Given the description of an element on the screen output the (x, y) to click on. 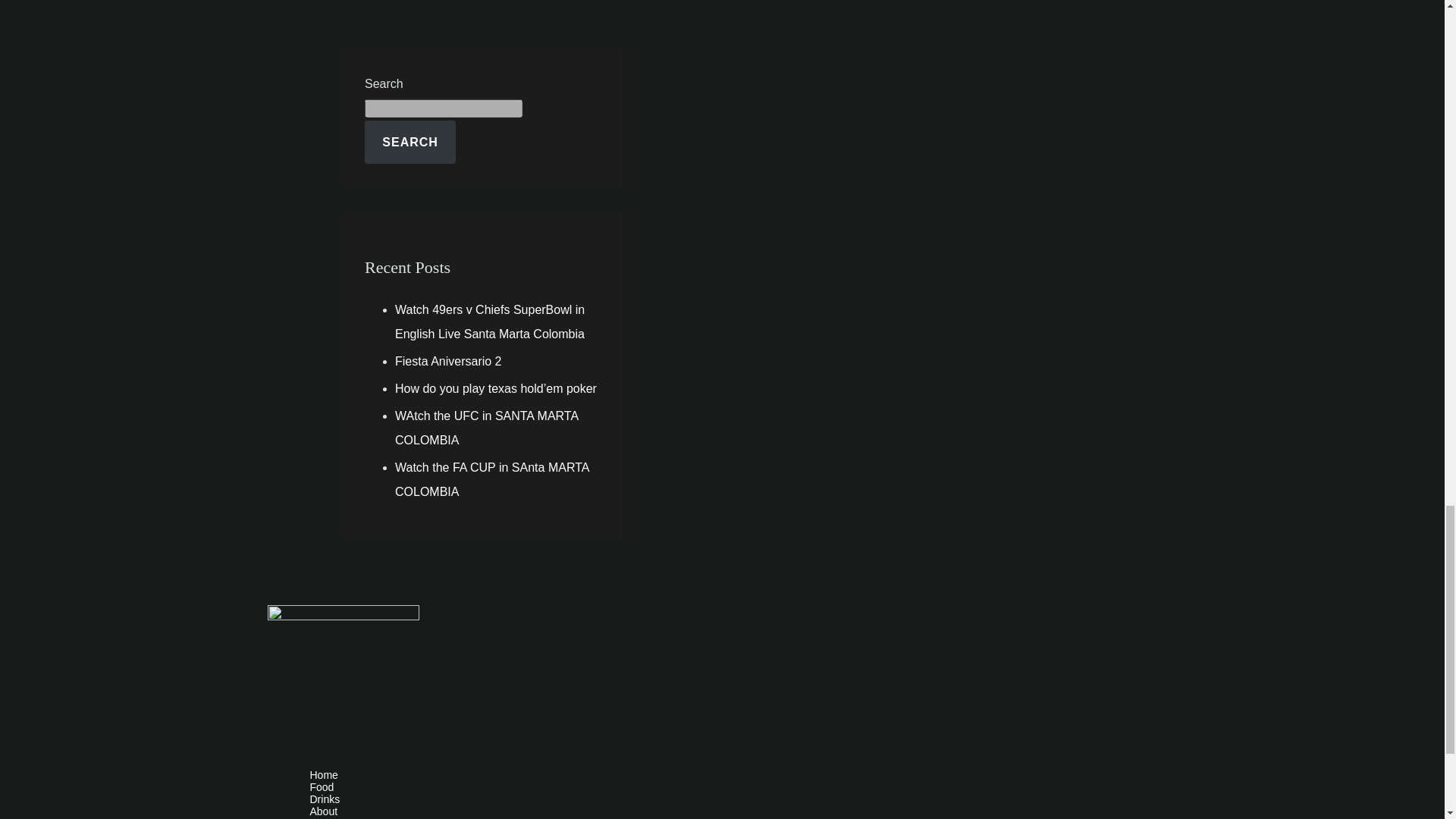
About (736, 811)
Watch the FA CUP in SAnta MARTA COLOMBIA (491, 479)
WAtch the UFC in SANTA MARTA COLOMBIA (486, 427)
Home (736, 775)
Drinks (736, 799)
Food (736, 787)
SEARCH (410, 141)
Fiesta Aniversario 2 (448, 360)
